Given the description of an element on the screen output the (x, y) to click on. 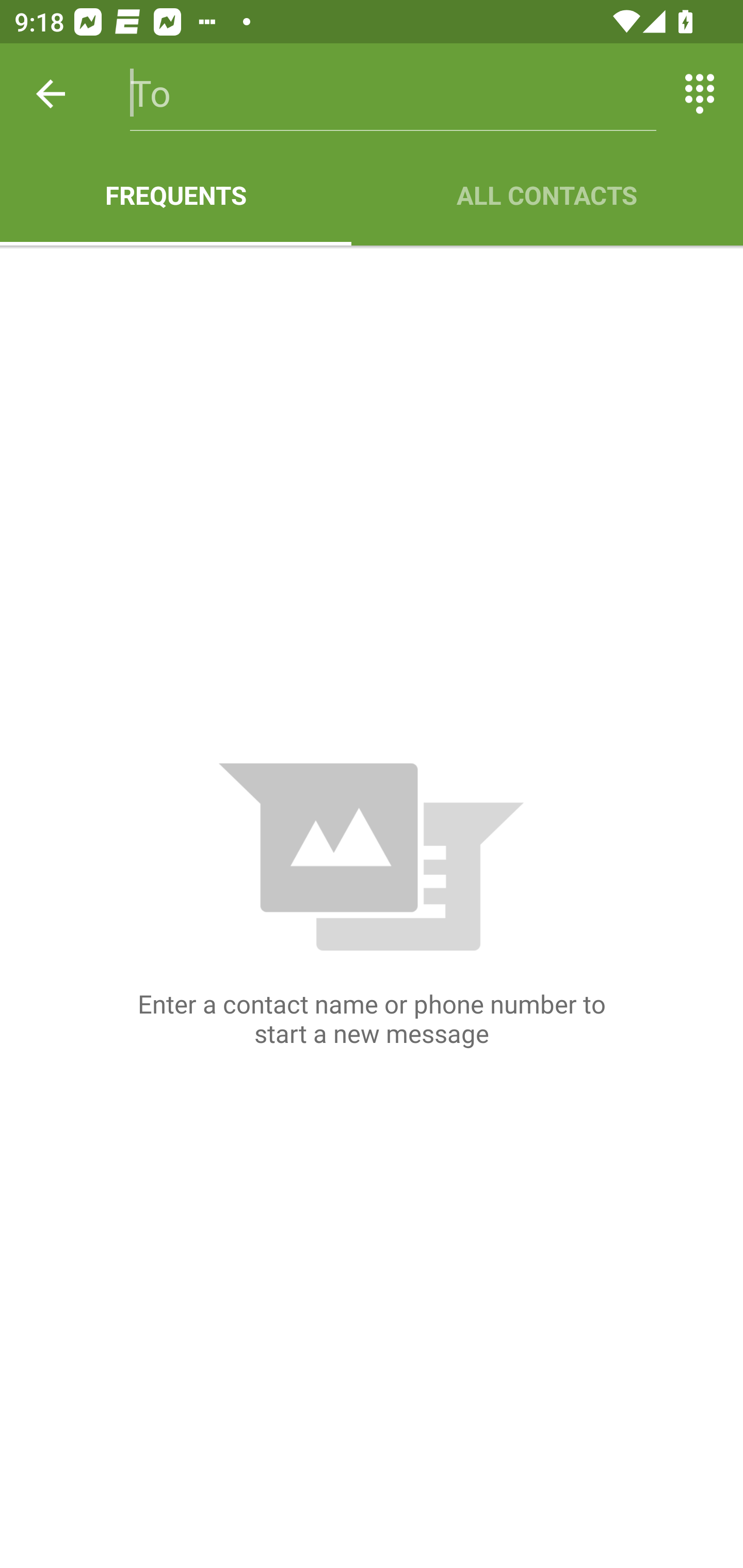
Back (50, 93)
Switch between entering text and numbers (699, 93)
To (393, 93)
FREQUENTS (175, 195)
ALL CONTACTS (547, 195)
